Given the description of an element on the screen output the (x, y) to click on. 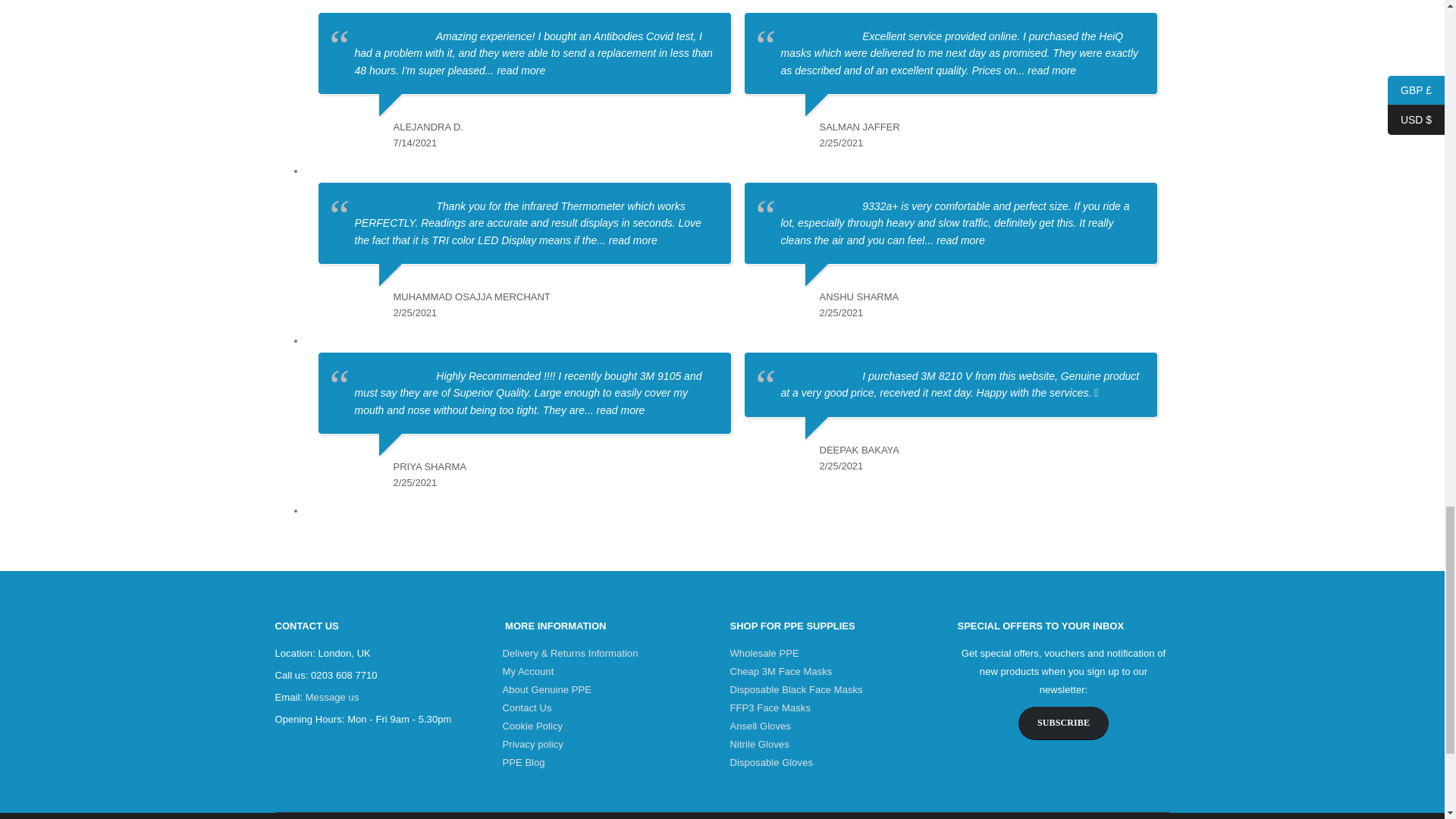
PPE Blog (523, 762)
Disposable Black Face Masks (795, 689)
... read more (514, 69)
... read more (1045, 69)
... read more (626, 240)
Cookie Policy (532, 726)
FFP3 Face Masks (769, 707)
Message us (332, 696)
Ansell Gloves (759, 726)
Privacy policy (532, 744)
My Account (527, 671)
Wholesale PPE (763, 653)
Contact Us (526, 707)
... read more (615, 410)
About Genuine PPE (546, 689)
